Given the description of an element on the screen output the (x, y) to click on. 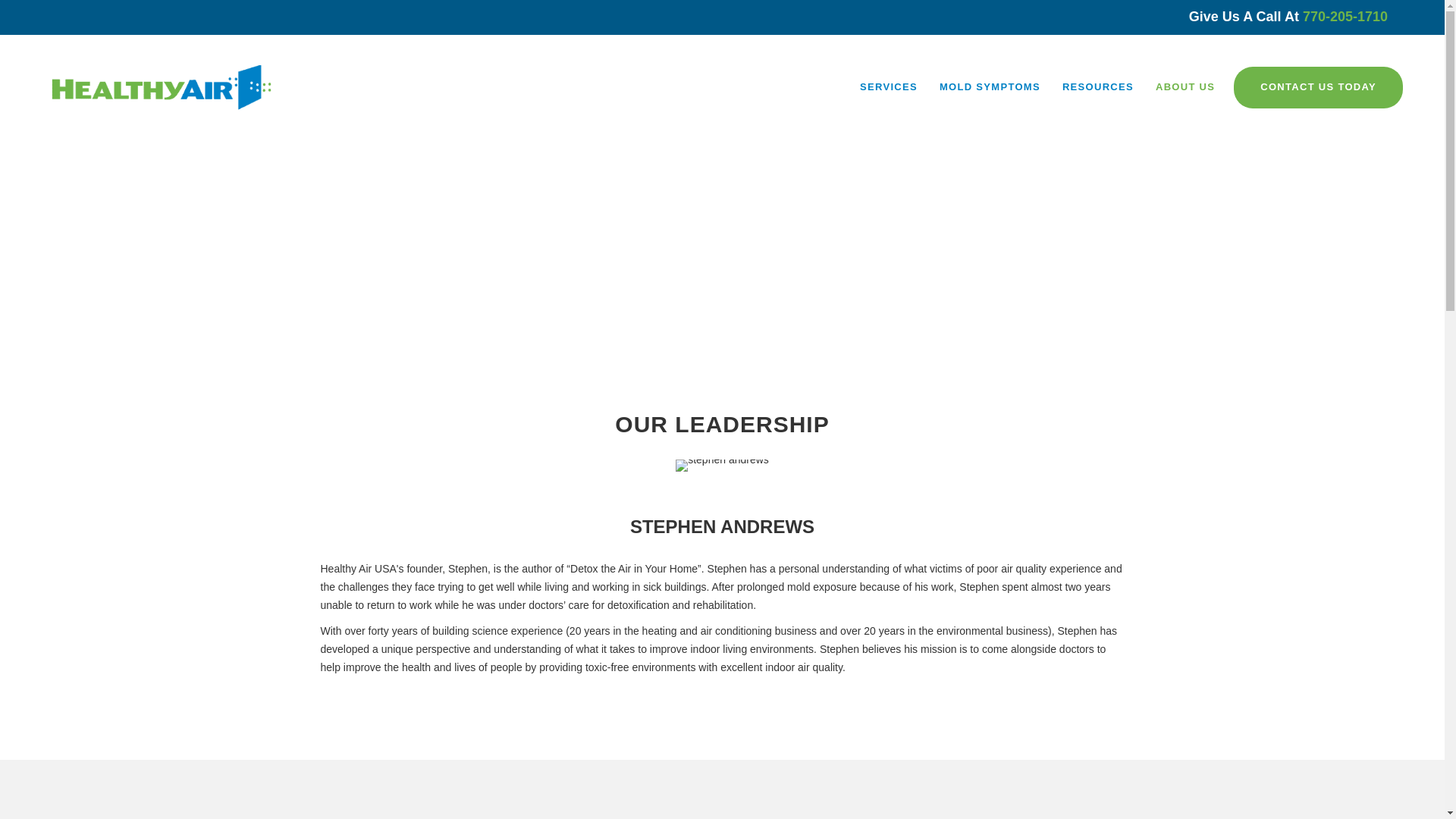
SERVICES (888, 87)
RESOURCES (1097, 87)
stephen andrews (721, 465)
MOLD SYMPTOMS (989, 87)
ABOUT US (1184, 87)
CONTACT US TODAY (1318, 87)
healthyair-logo (161, 87)
770-205-1710 (1345, 16)
